Given the description of an element on the screen output the (x, y) to click on. 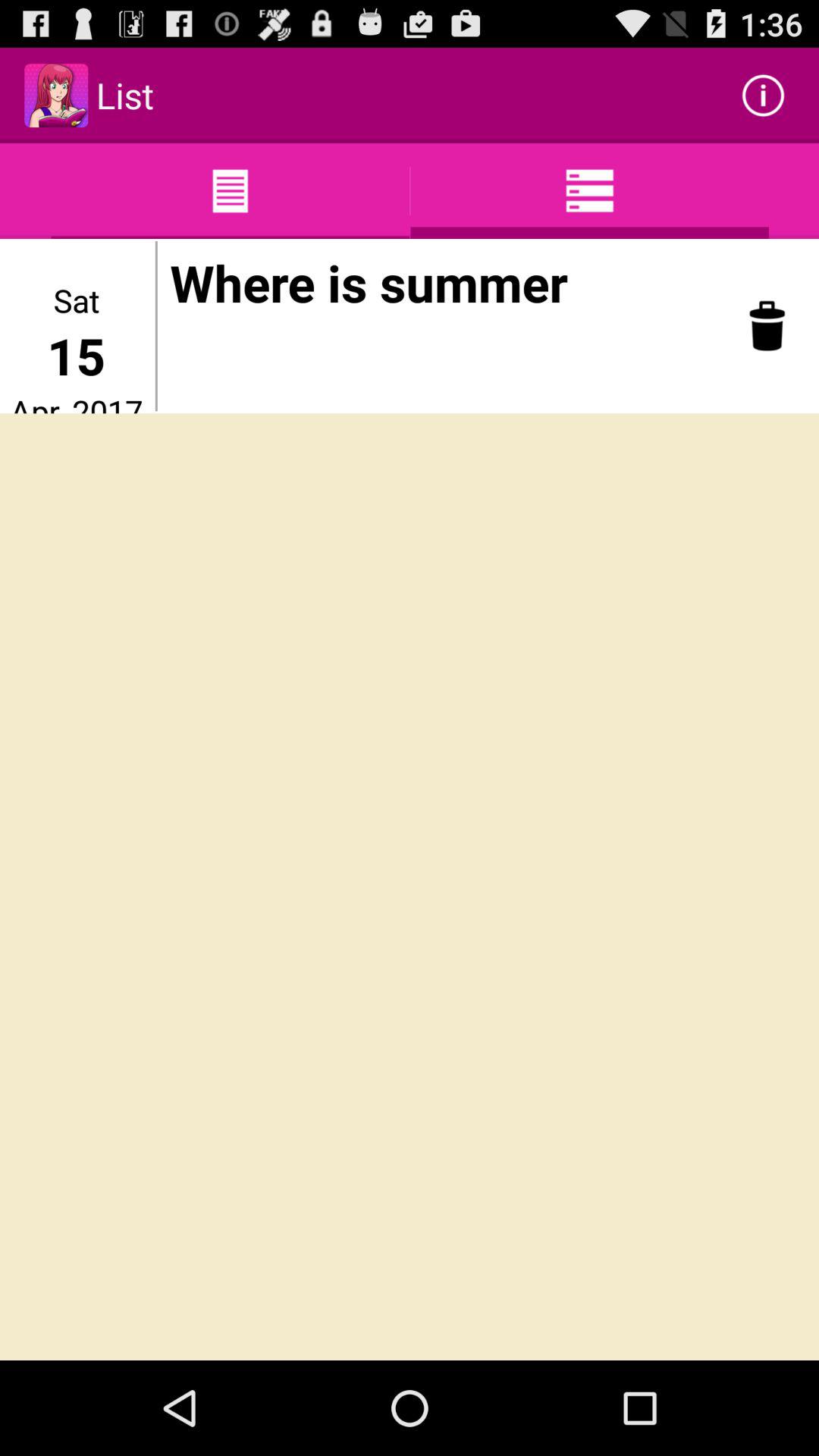
click item above apr, 2017 item (76, 355)
